Given the description of an element on the screen output the (x, y) to click on. 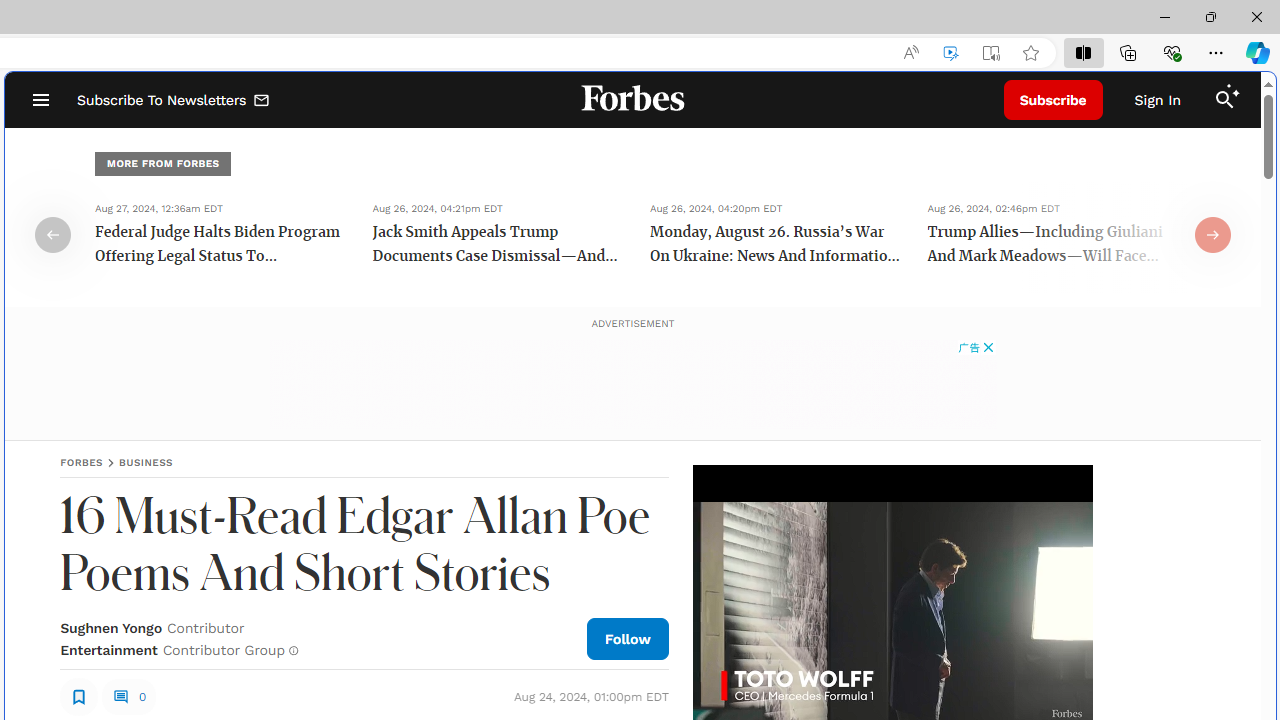
BUSINESS (145, 462)
Class: fs-icon fs-icon--info (293, 650)
Class: search_svg__fs-icon search_svg__fs-icon--search (1224, 99)
Class: fs-icon fs-icon--arrow-right (1212, 234)
Enter Immersive Reader (F9) (991, 53)
Sughnen Yongo (111, 628)
0 (128, 696)
Open Navigation Menu (40, 99)
